Given the description of an element on the screen output the (x, y) to click on. 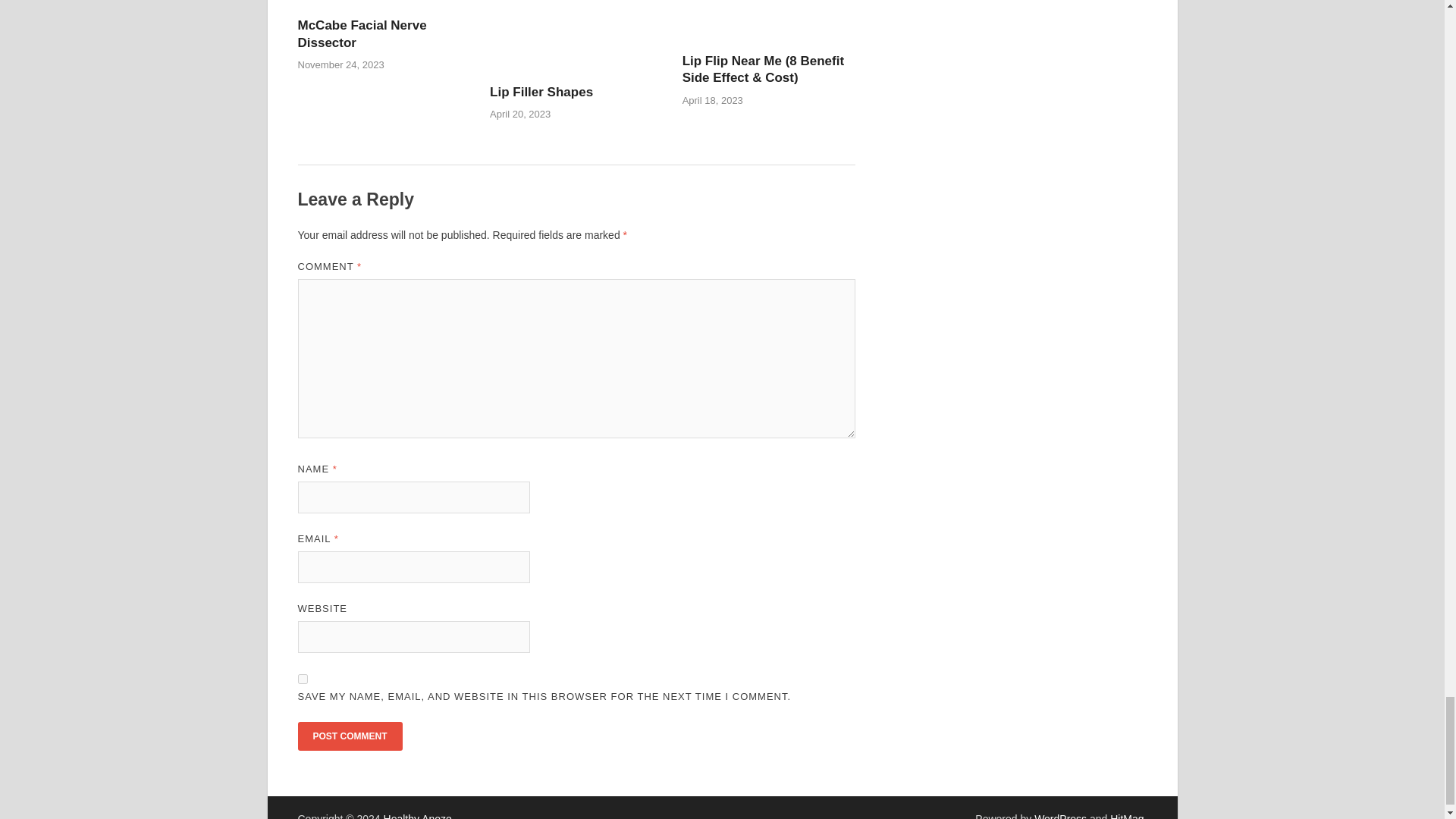
Post Comment (349, 736)
yes (302, 678)
